Given the description of an element on the screen output the (x, y) to click on. 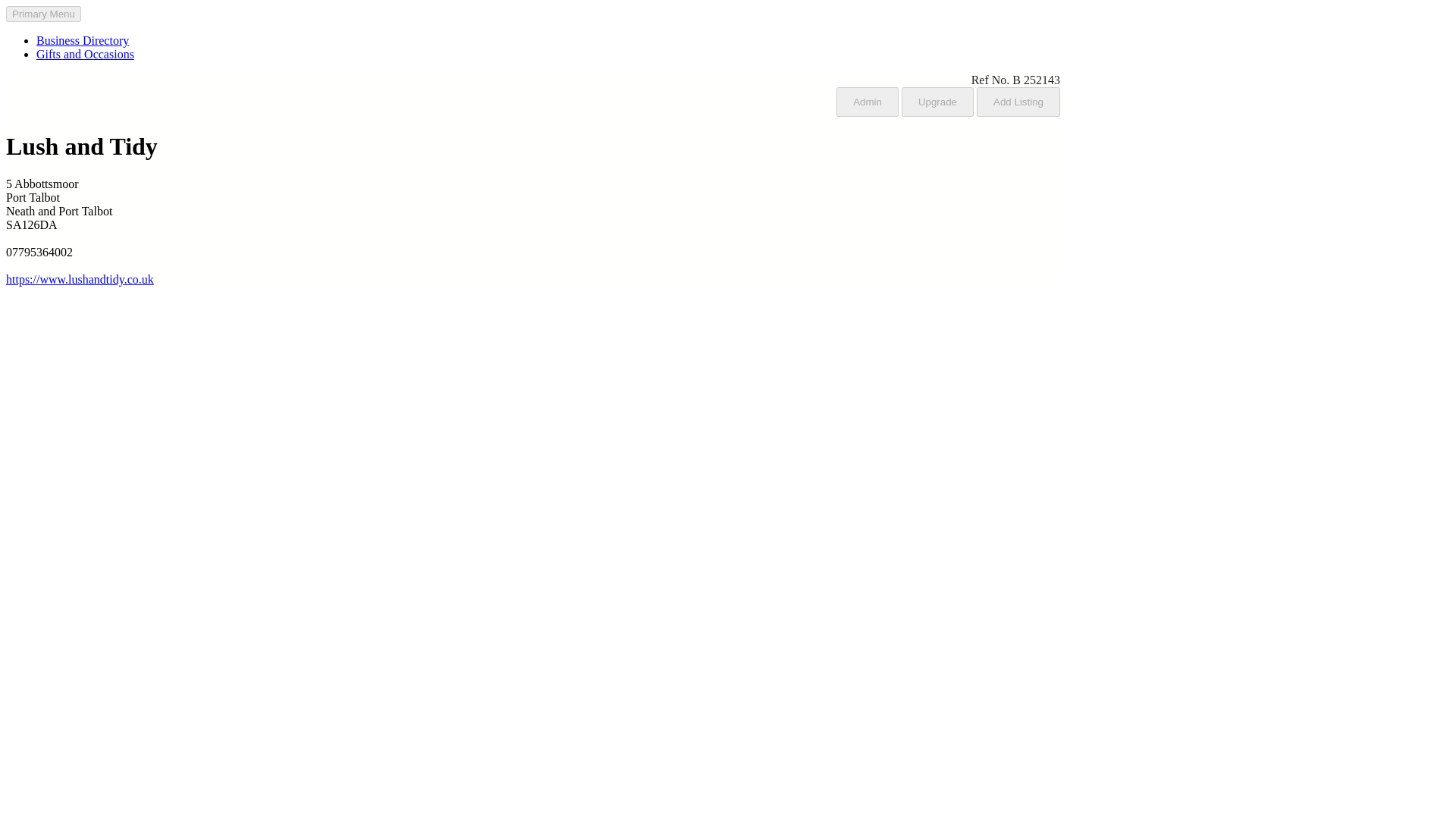
Add Listing (1017, 101)
Admin (866, 101)
Upgrade (937, 101)
Primary Menu (43, 13)
Gifts and Occasions (84, 53)
Admin (866, 101)
Upgrade (937, 101)
Add Listing (1017, 101)
Business Directory (82, 40)
